Given the description of an element on the screen output the (x, y) to click on. 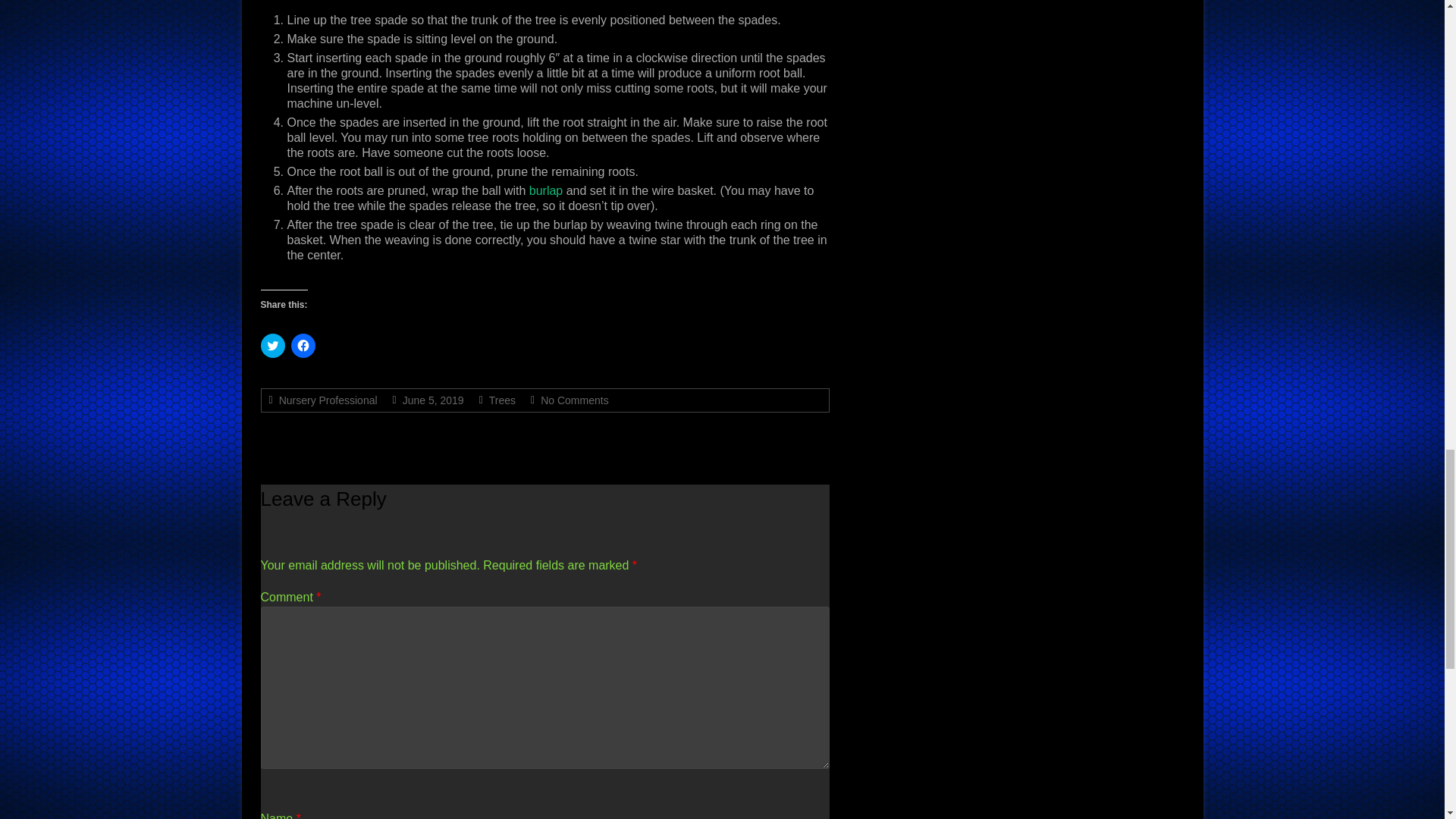
June 5, 2019 (433, 399)
No Comments (574, 399)
Nursery Professional (328, 399)
Click to share on Twitter (272, 345)
burlap (545, 190)
Trees (502, 399)
Click to share on Facebook (303, 345)
5:54 pm (433, 399)
